Given the description of an element on the screen output the (x, y) to click on. 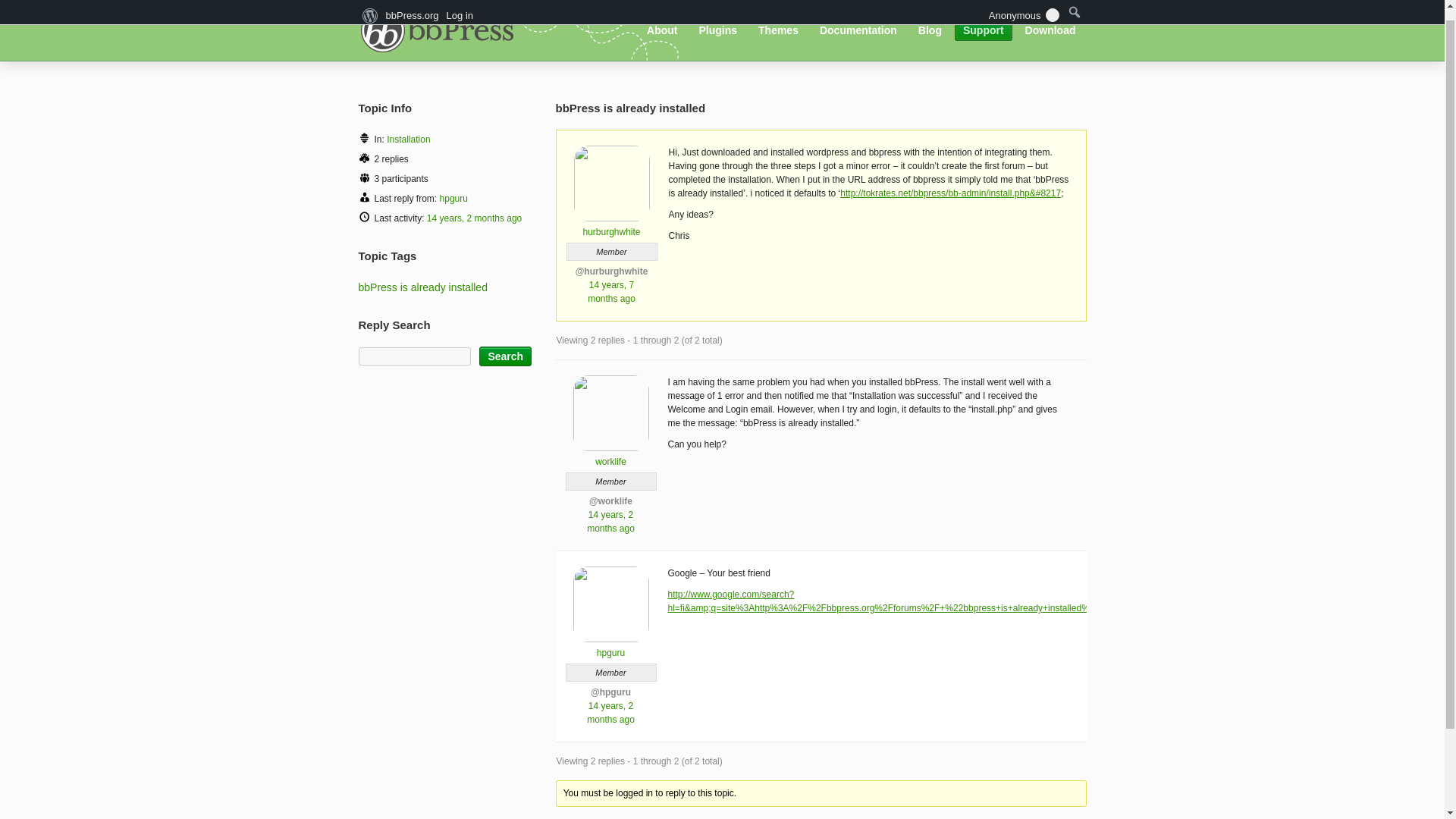
14 years, 2 months ago (473, 217)
Search (505, 356)
Search (505, 356)
14 years, 2 months ago (610, 712)
hpguru (453, 198)
About (662, 19)
Installation (408, 139)
Themes (777, 19)
14 years, 2 months ago (610, 521)
Documentation (857, 19)
